Given the description of an element on the screen output the (x, y) to click on. 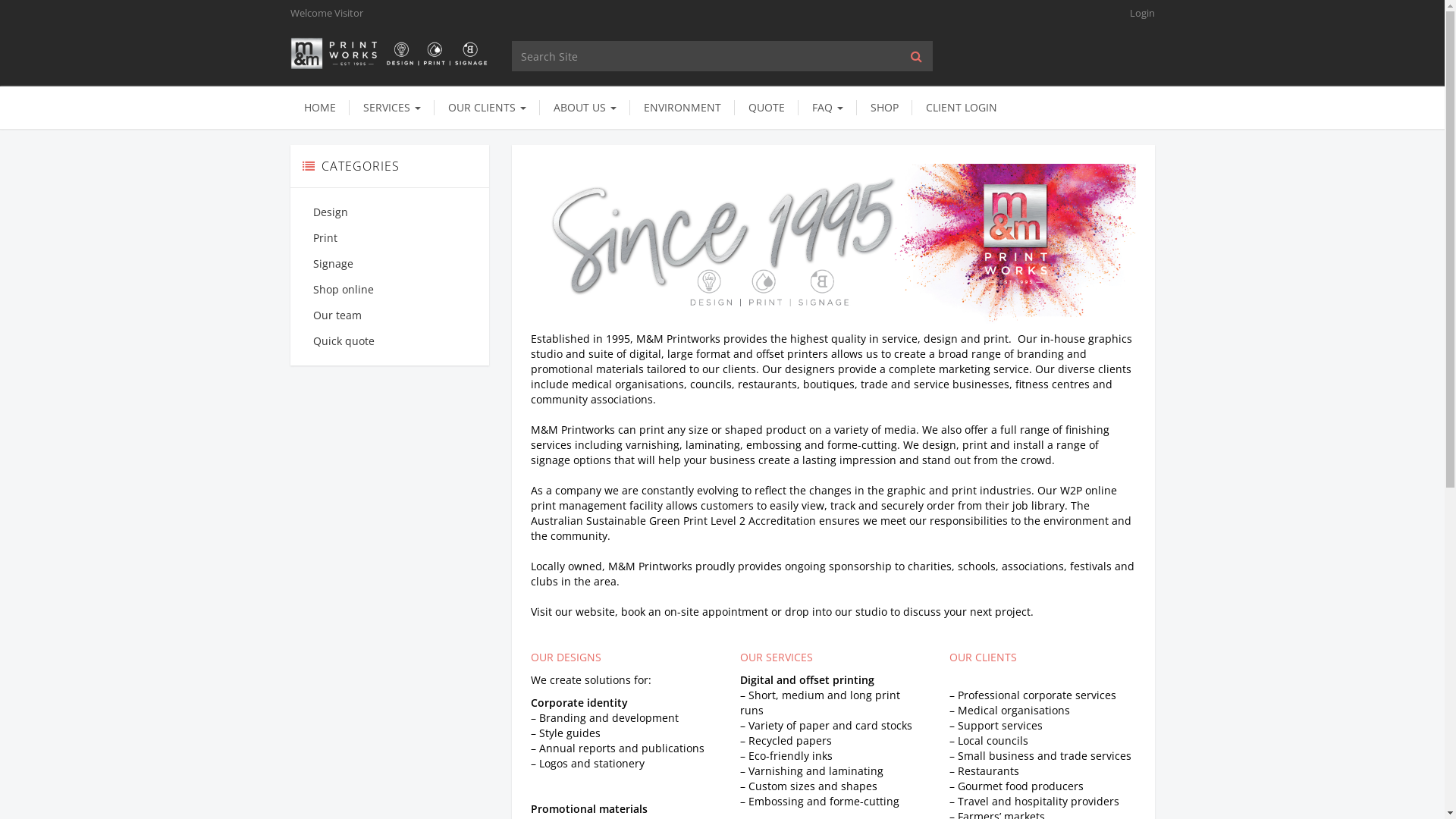
SHOP Element type: text (884, 107)
Print Element type: text (389, 238)
QUOTE Element type: text (765, 107)
Shop online Element type: text (389, 289)
mmp Element type: hover (389, 53)
CLIENT LOGIN Element type: text (960, 107)
OUR CLIENTS Element type: text (486, 107)
ABOUT US Element type: text (584, 107)
Our team Element type: text (389, 315)
FAQ Element type: text (826, 107)
ENVIRONMENT Element type: text (681, 107)
HOME Element type: text (318, 107)
Design Element type: text (389, 212)
Quick quote Element type: text (389, 341)
mmp Element type: hover (389, 52)
SERVICES Element type: text (390, 107)
Login Element type: text (1136, 13)
Signage Element type: text (389, 263)
